Given the description of an element on the screen output the (x, y) to click on. 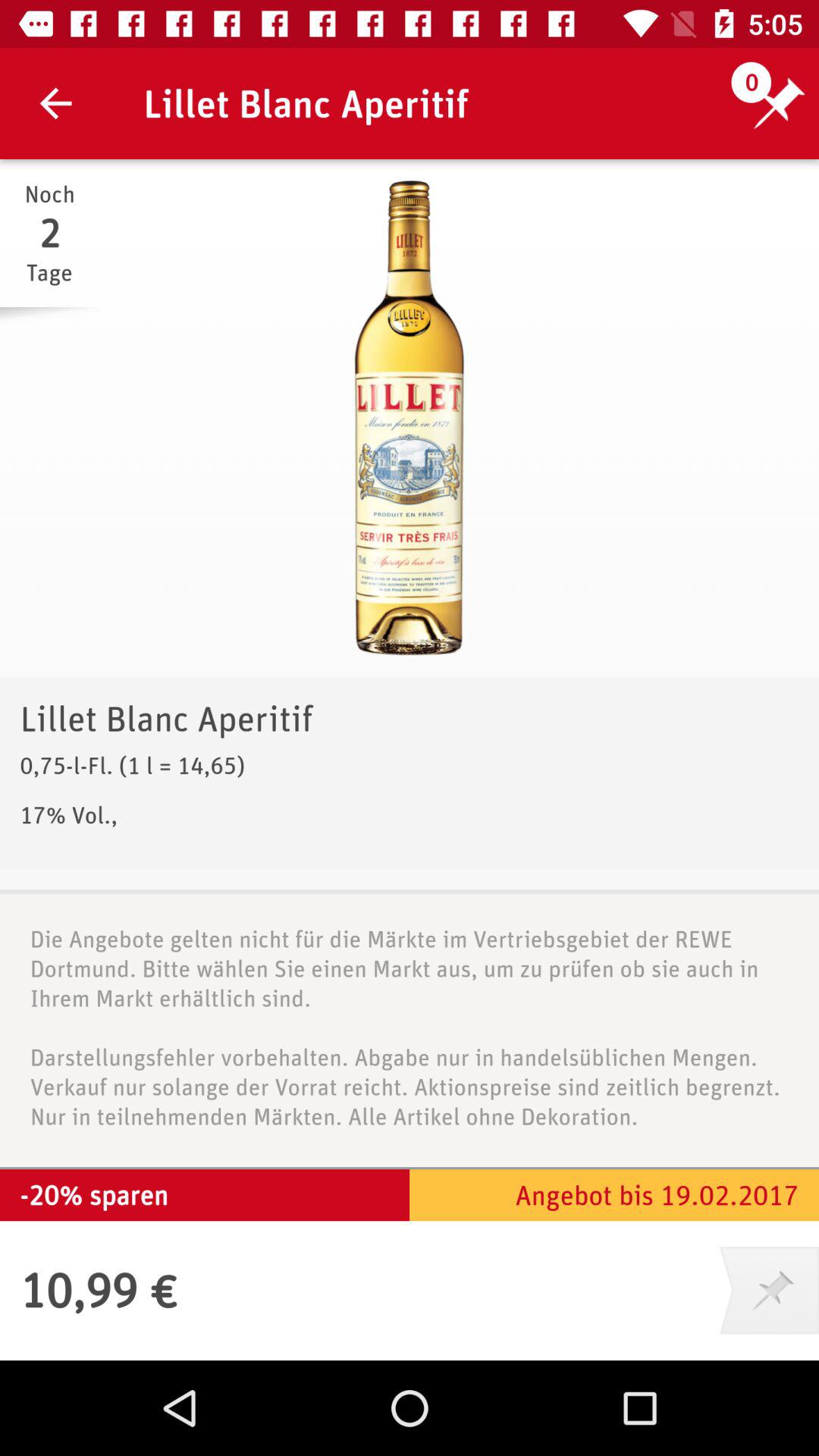
open item below lillet blanc aperitif icon (409, 417)
